Given the description of an element on the screen output the (x, y) to click on. 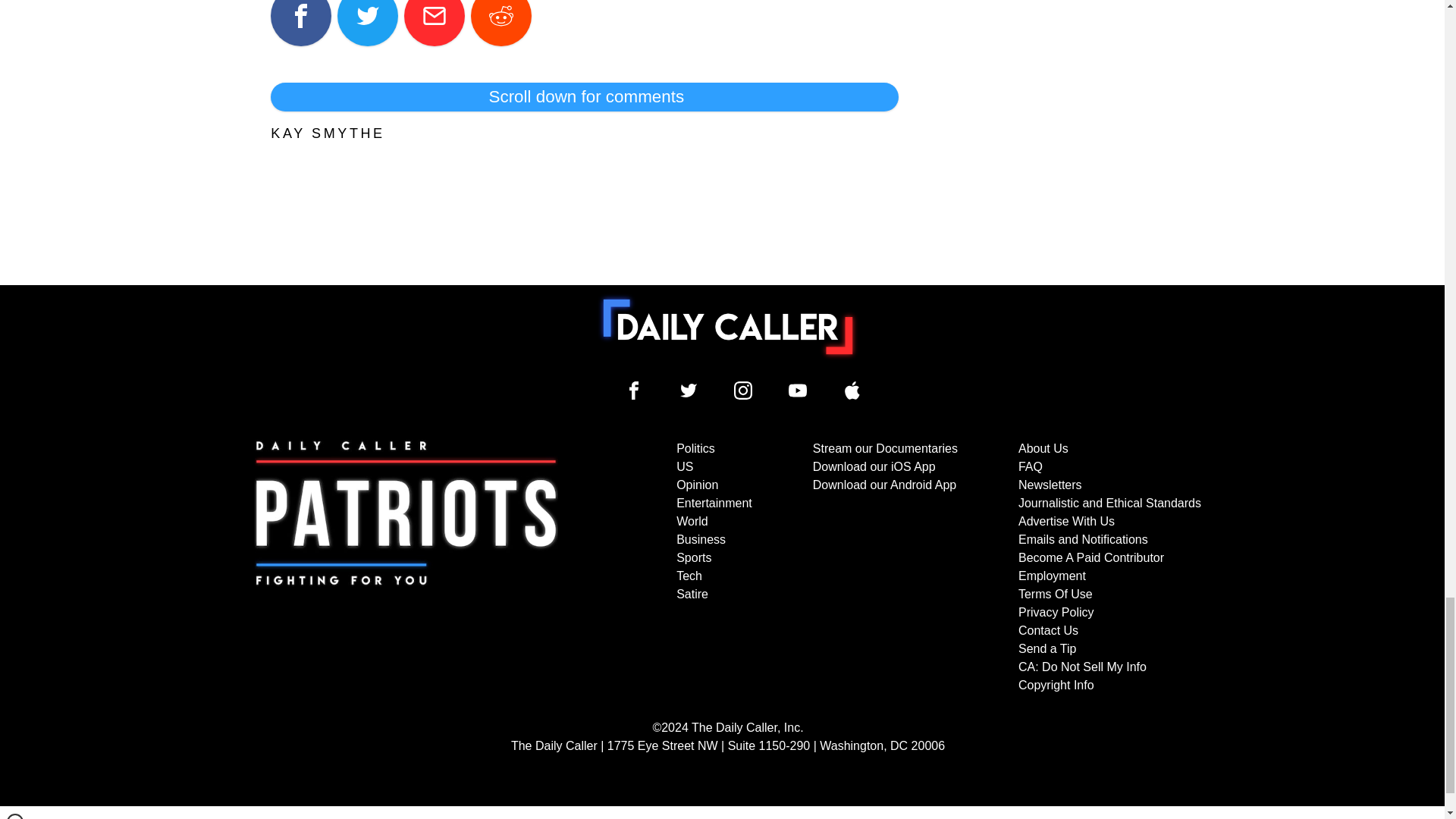
Scroll down for comments (584, 96)
Subscribe to The Daily Caller (405, 566)
Daily Caller Twitter (688, 390)
Daily Caller Facebook (633, 390)
Daily Caller YouTube (797, 390)
Daily Caller YouTube (852, 390)
Daily Caller Instagram (742, 390)
To home page (727, 326)
